Given the description of an element on the screen output the (x, y) to click on. 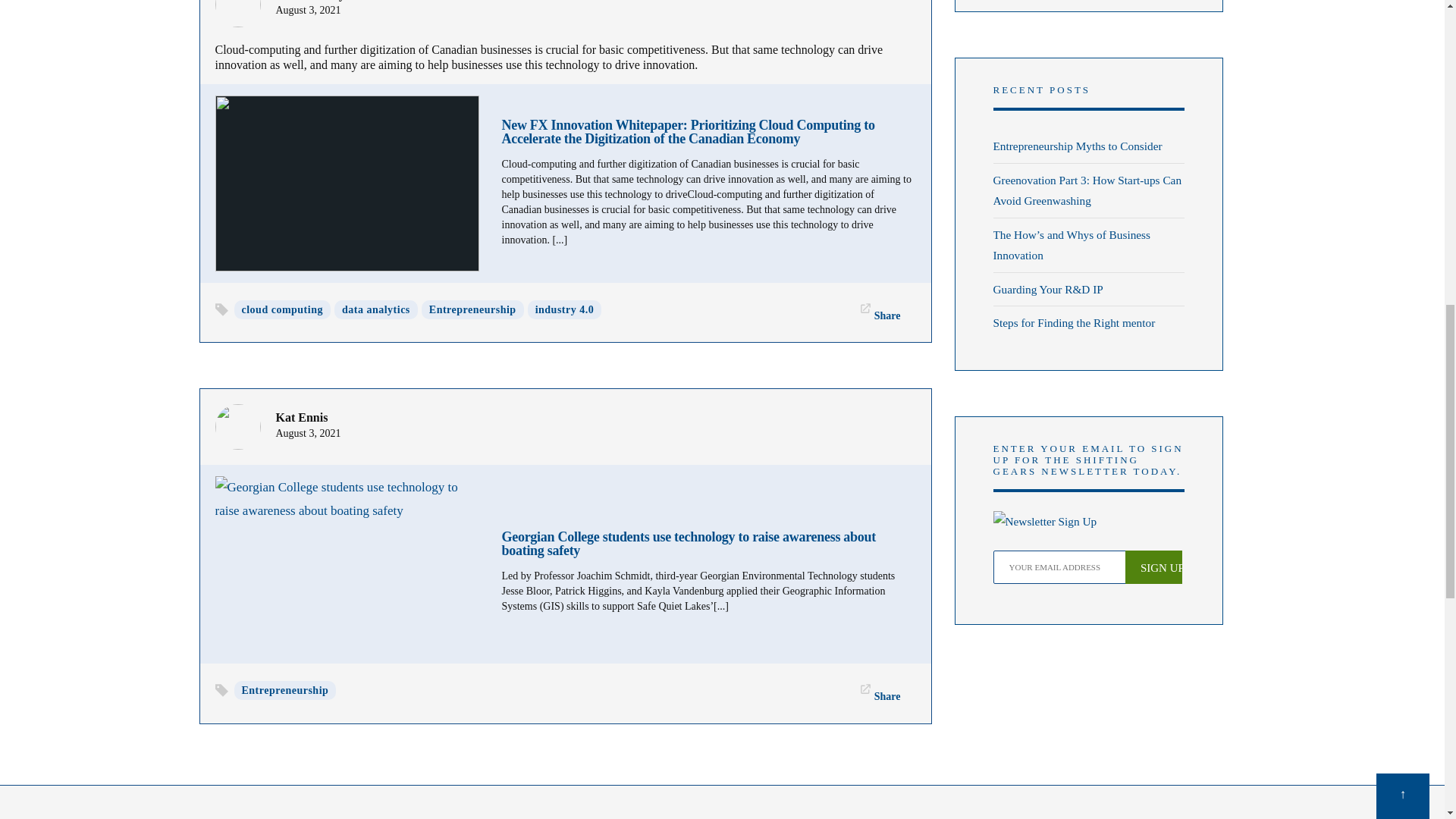
Entrepreneurship (284, 690)
Entrepreneurship Tag (284, 690)
Sign up (1153, 566)
Entrepreneurship (473, 309)
cloud computing (281, 309)
data analytics (375, 309)
Entrepreneurship Tag (473, 309)
cloud computing Tag (281, 309)
